Given the description of an element on the screen output the (x, y) to click on. 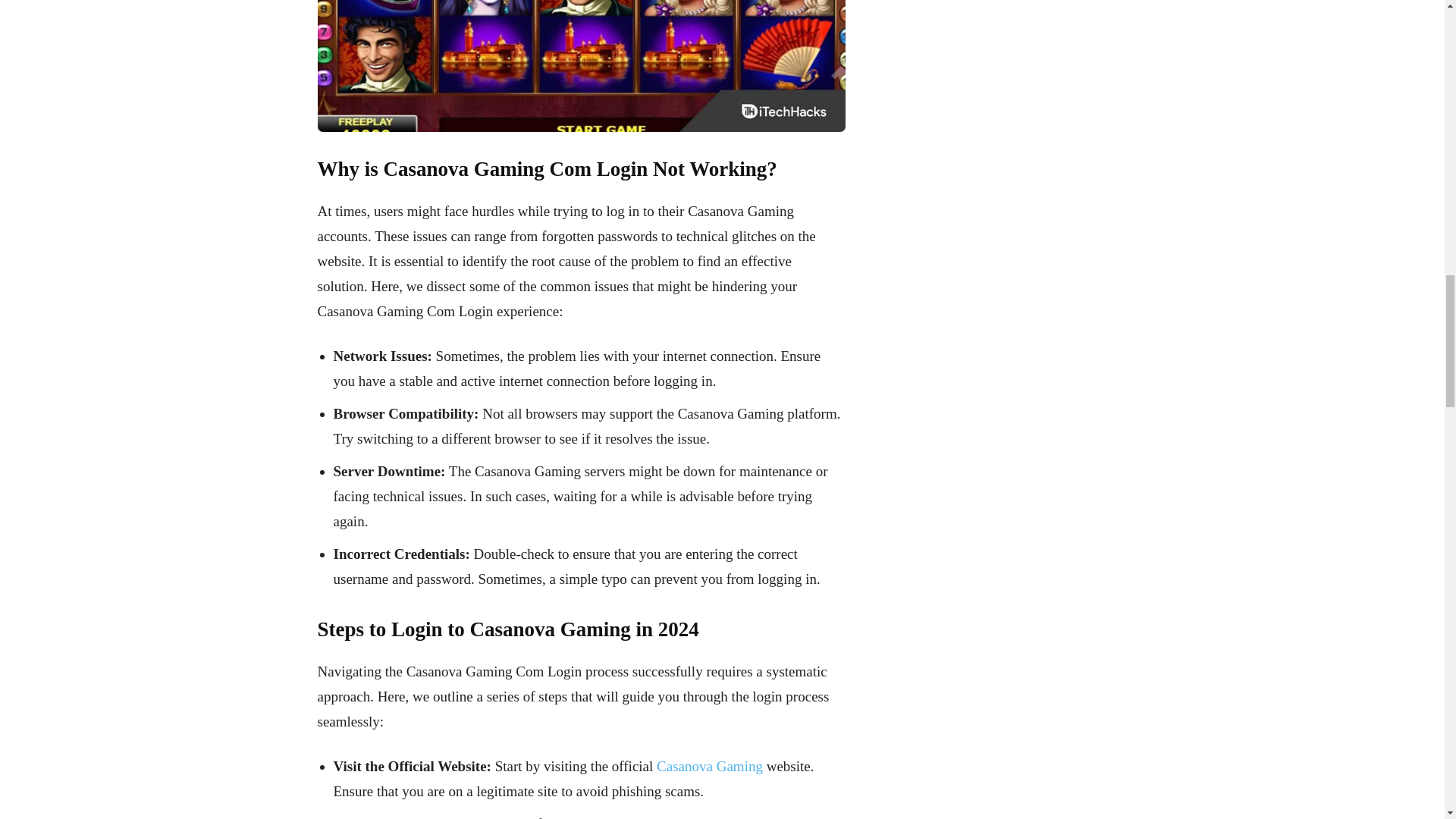
Casanova Gaming (709, 765)
